Given the description of an element on the screen output the (x, y) to click on. 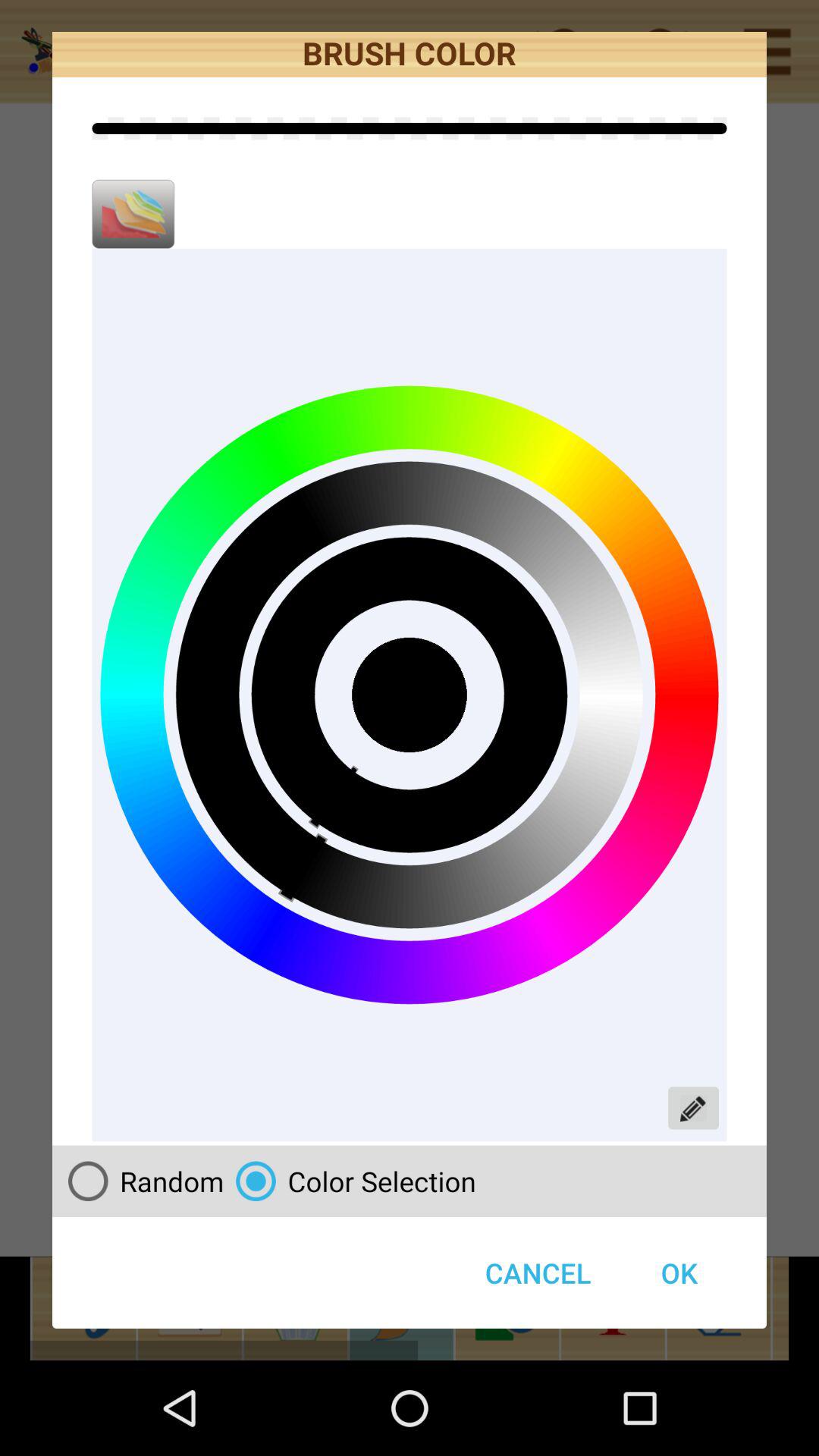
select icon to the left of ok icon (350, 1181)
